Given the description of an element on the screen output the (x, y) to click on. 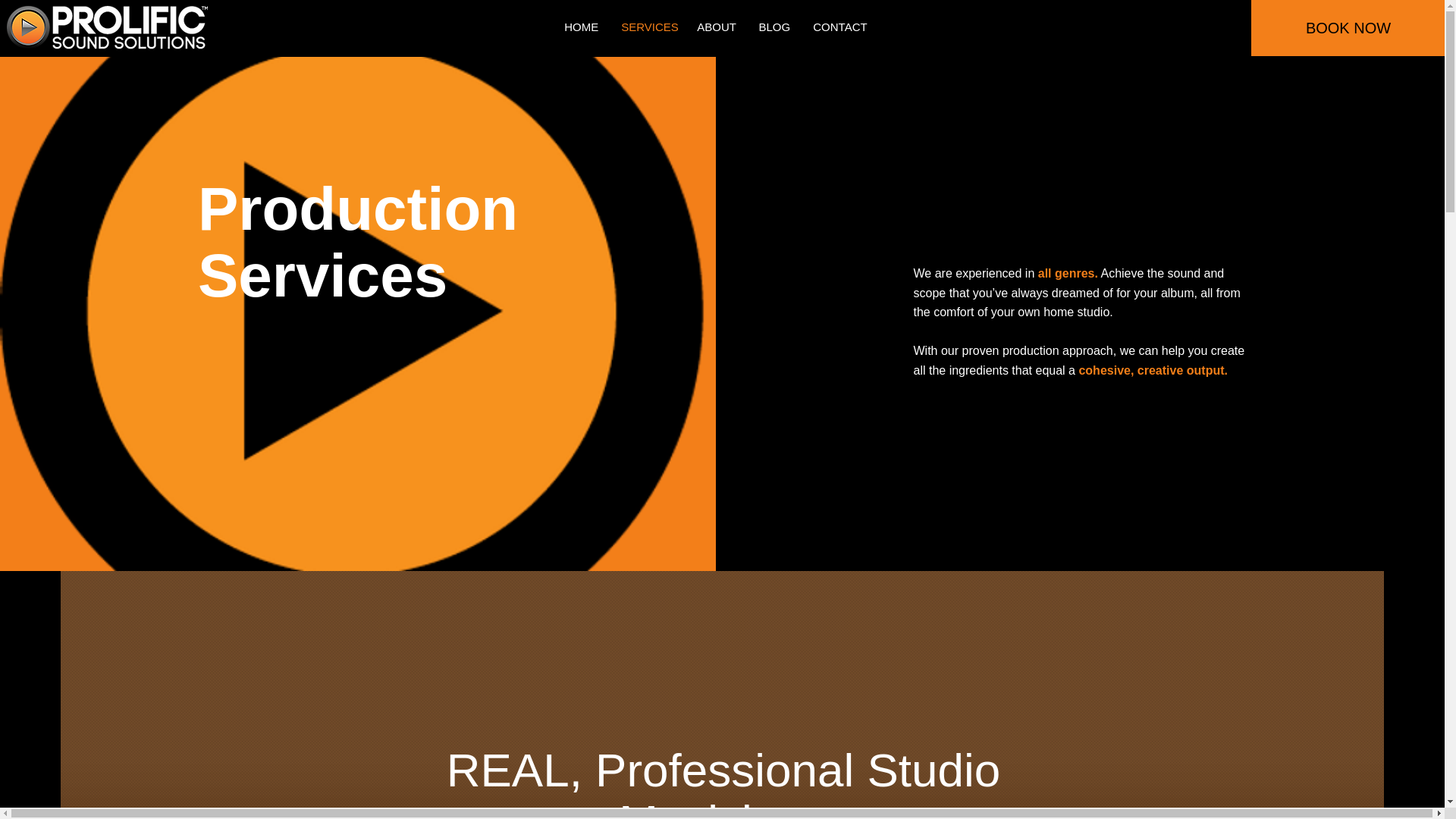
HOME (581, 26)
SERVICES (647, 26)
BLOG (774, 26)
PSS Logo 2024 White Text.png (107, 26)
CONTACT (839, 26)
ABOUT (715, 26)
